Given the description of an element on the screen output the (x, y) to click on. 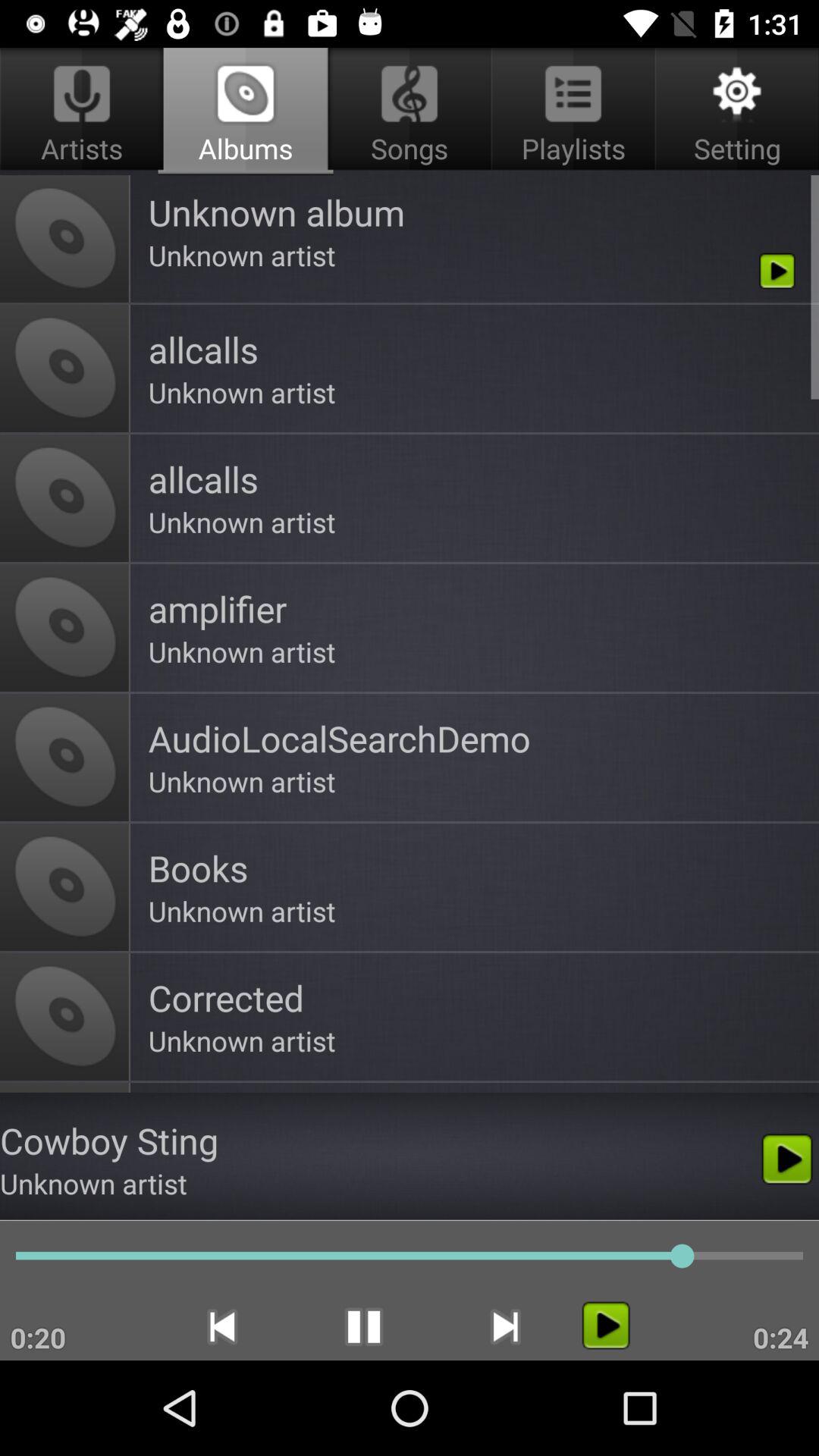
press the icon to the right of 0:20 app (221, 1326)
